Given the description of an element on the screen output the (x, y) to click on. 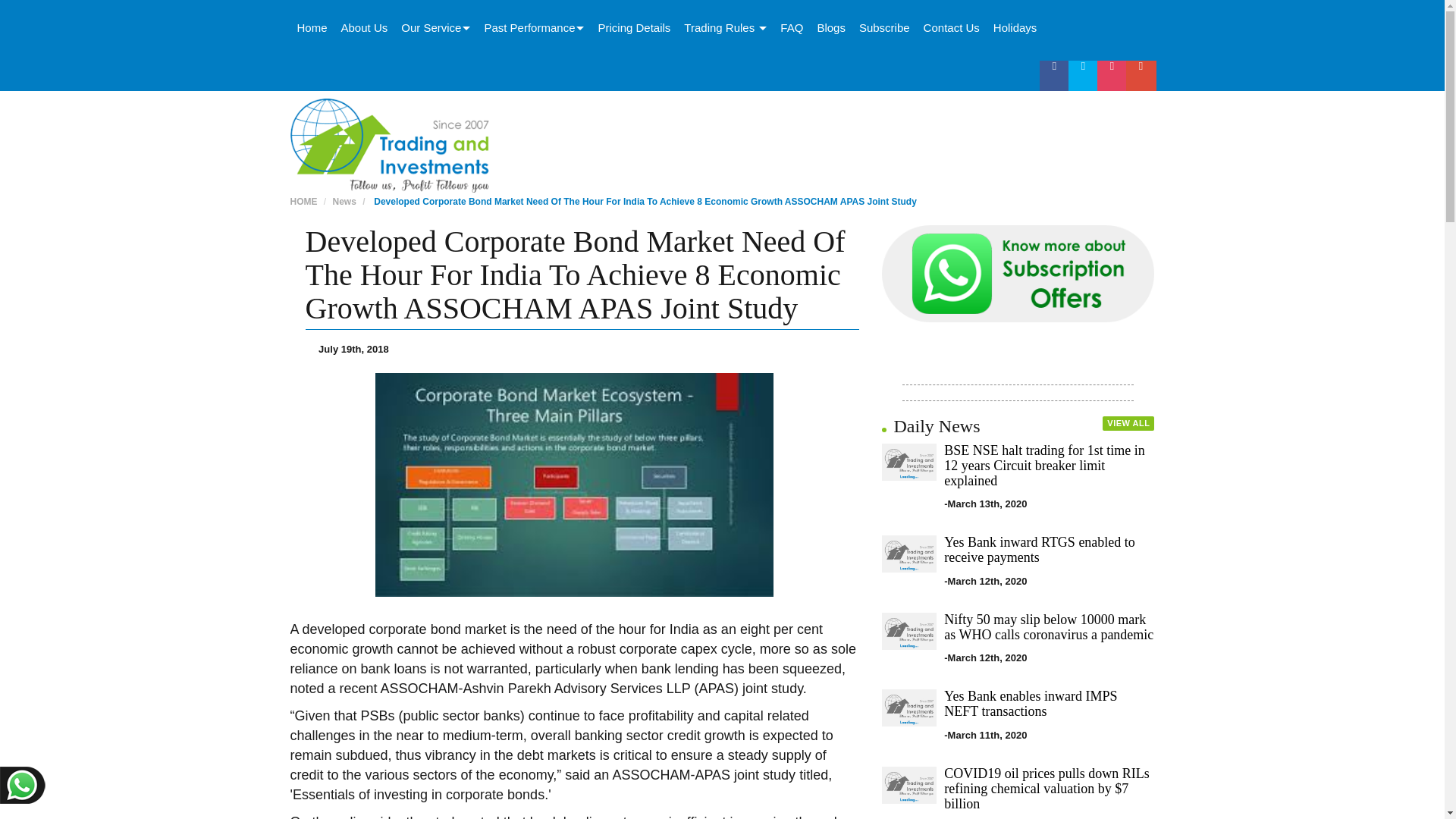
About Us (364, 26)
HOME (303, 201)
Past Performance (534, 26)
Holidays (1015, 26)
Our Service (435, 26)
FAQ (791, 26)
Subscribe (884, 26)
News (344, 201)
Contact Us (952, 26)
Blogs (830, 26)
Trading Rules (725, 26)
Pricing Details (634, 26)
Home (311, 26)
